Given the description of an element on the screen output the (x, y) to click on. 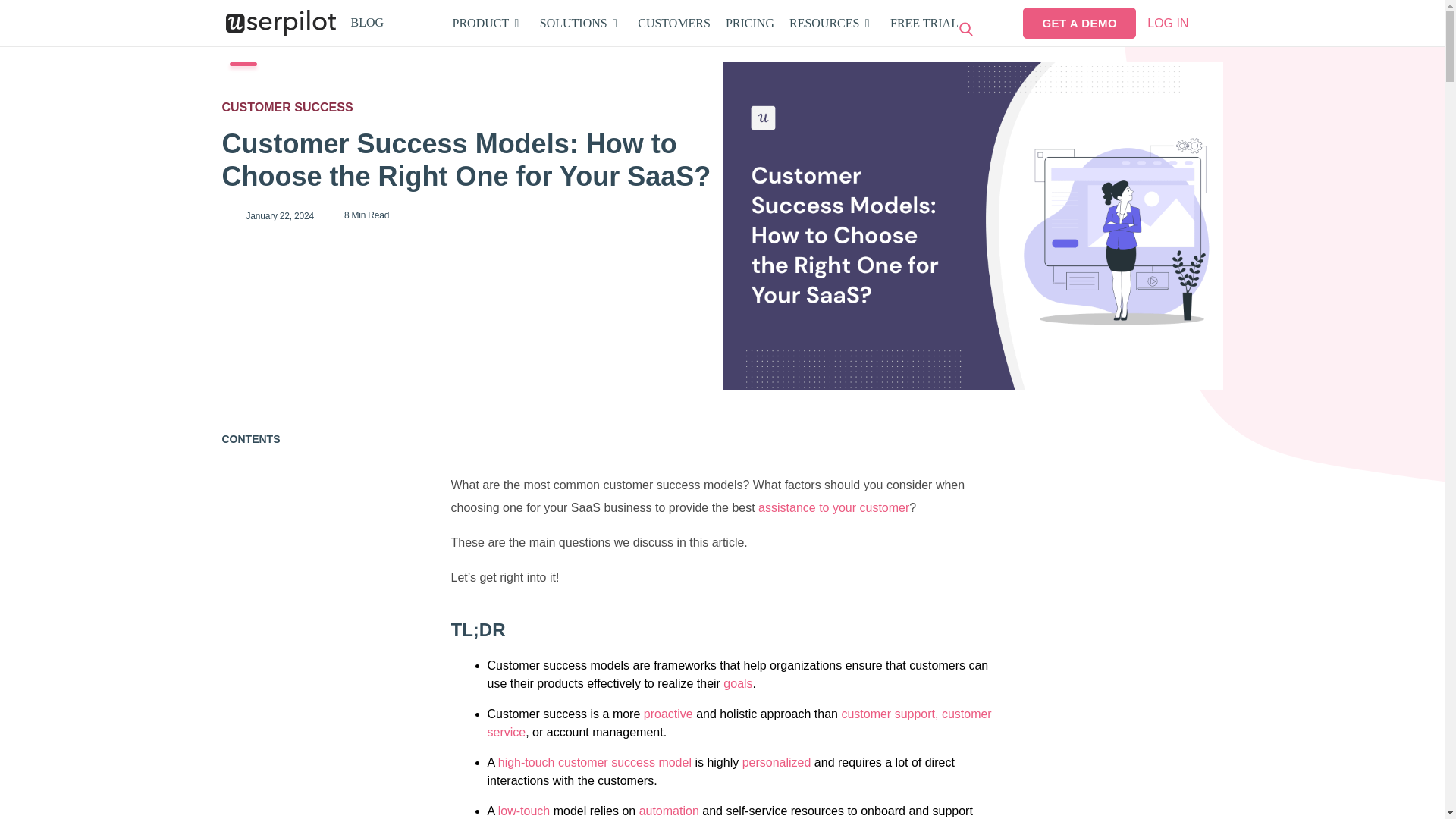
BLOG (705, 22)
PRICING (364, 22)
FREE TRIAL (749, 22)
CUSTOMERS (924, 22)
